Given the description of an element on the screen output the (x, y) to click on. 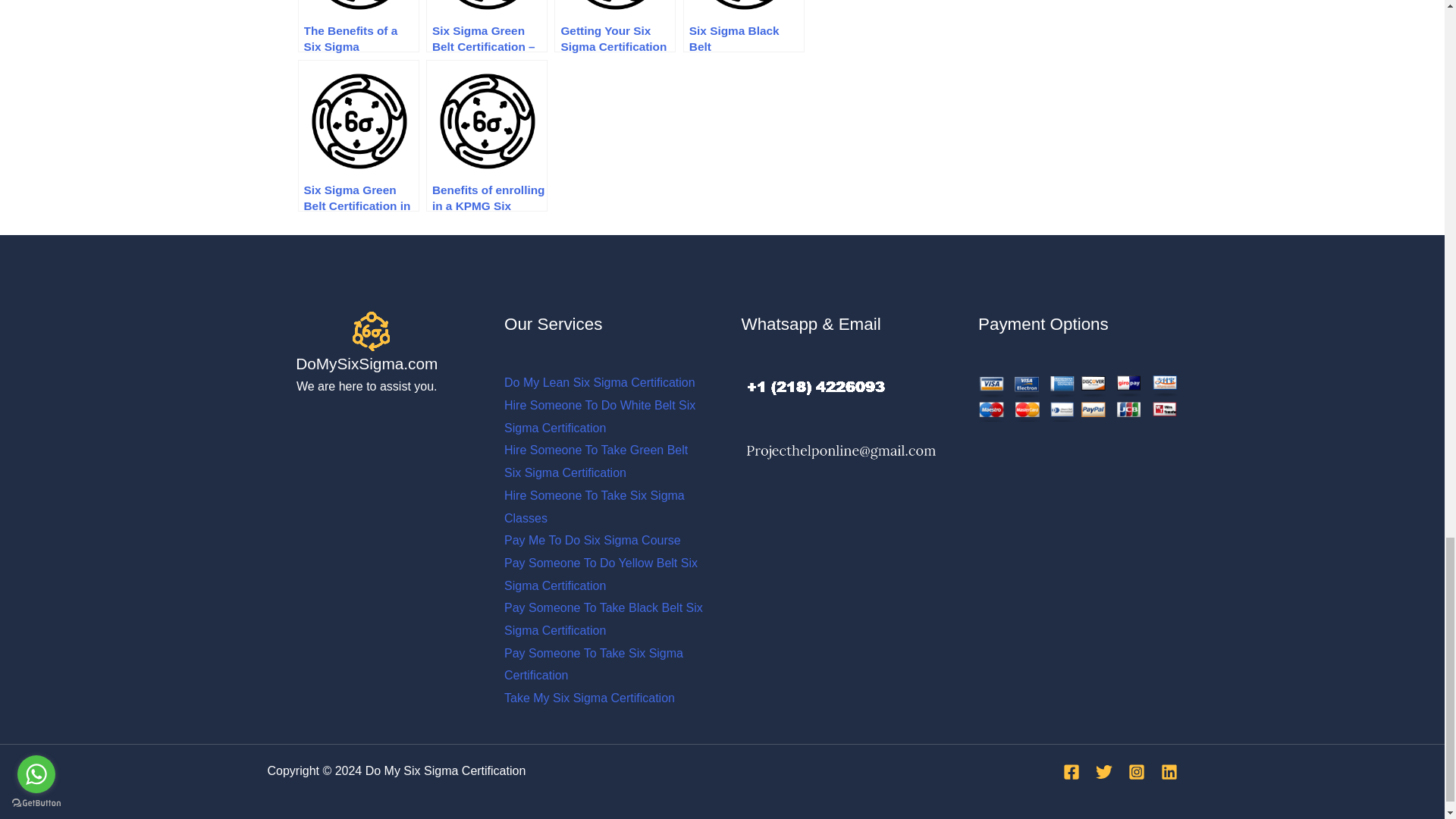
Getting Your Six Sigma Certification Body Of Knowledge (614, 26)
Six Sigma Black Belt Responsibilities (743, 26)
The Benefits of a Six Sigma Certification Australia Program (358, 26)
The Benefits of a Six Sigma Certification Australia Program (358, 26)
Six Sigma Black Belt Responsibilities (743, 26)
Getting Your Six Sigma Certification Body Of Knowledge (614, 26)
